Given the description of an element on the screen output the (x, y) to click on. 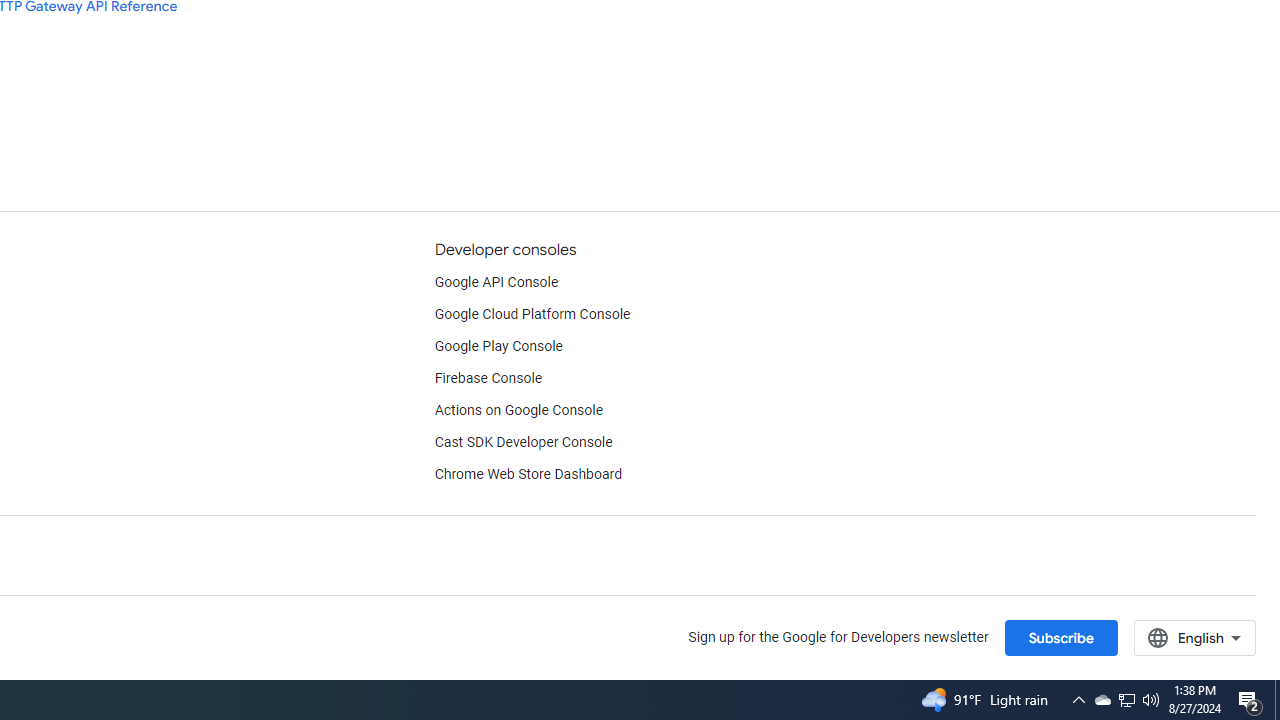
Subscribe (1060, 637)
Google API Console (496, 282)
Google Play Console (498, 346)
Google Cloud Platform Console (532, 314)
Cast SDK Developer Console (523, 442)
Actions on Google Console (518, 410)
Chrome Web Store Dashboard (528, 475)
Firebase Console (487, 378)
English (1193, 637)
